Given the description of an element on the screen output the (x, y) to click on. 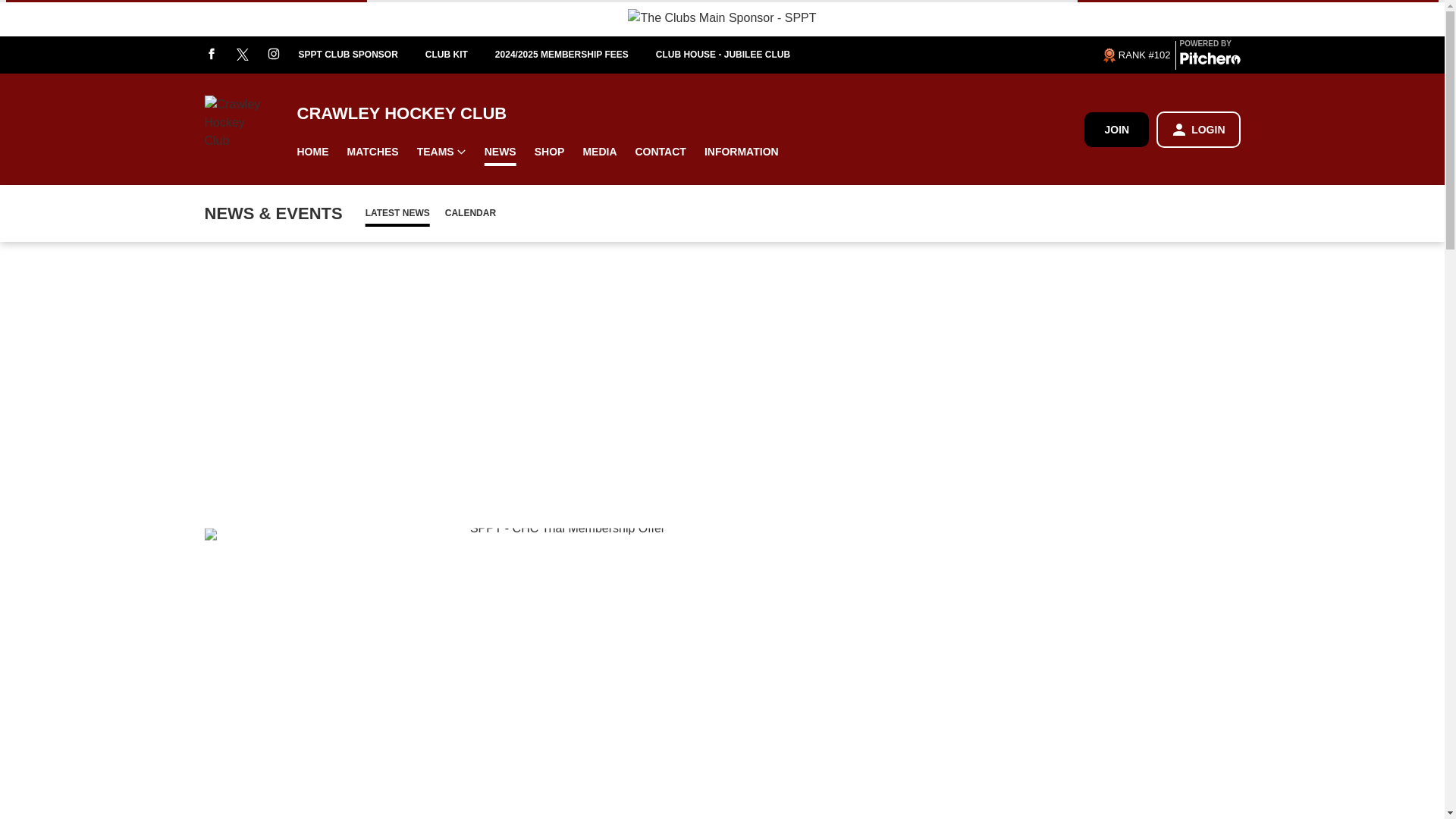
CLUB KIT (460, 54)
MATCHES (372, 152)
CONTACT (660, 152)
HOME (312, 152)
twitter (241, 54)
SPPT CLUB SPONSOR (361, 54)
facebook (211, 54)
SHOP (549, 152)
CLUB HOUSE - JUBILEE CLUB (736, 54)
The Clubs Main Sponsor - SPPT (721, 18)
Pitchero Rankings (1135, 54)
instagram (273, 54)
LOGIN (1198, 129)
NEWS (500, 152)
CRAWLEY HOCKEY CLUB (690, 113)
